Given the description of an element on the screen output the (x, y) to click on. 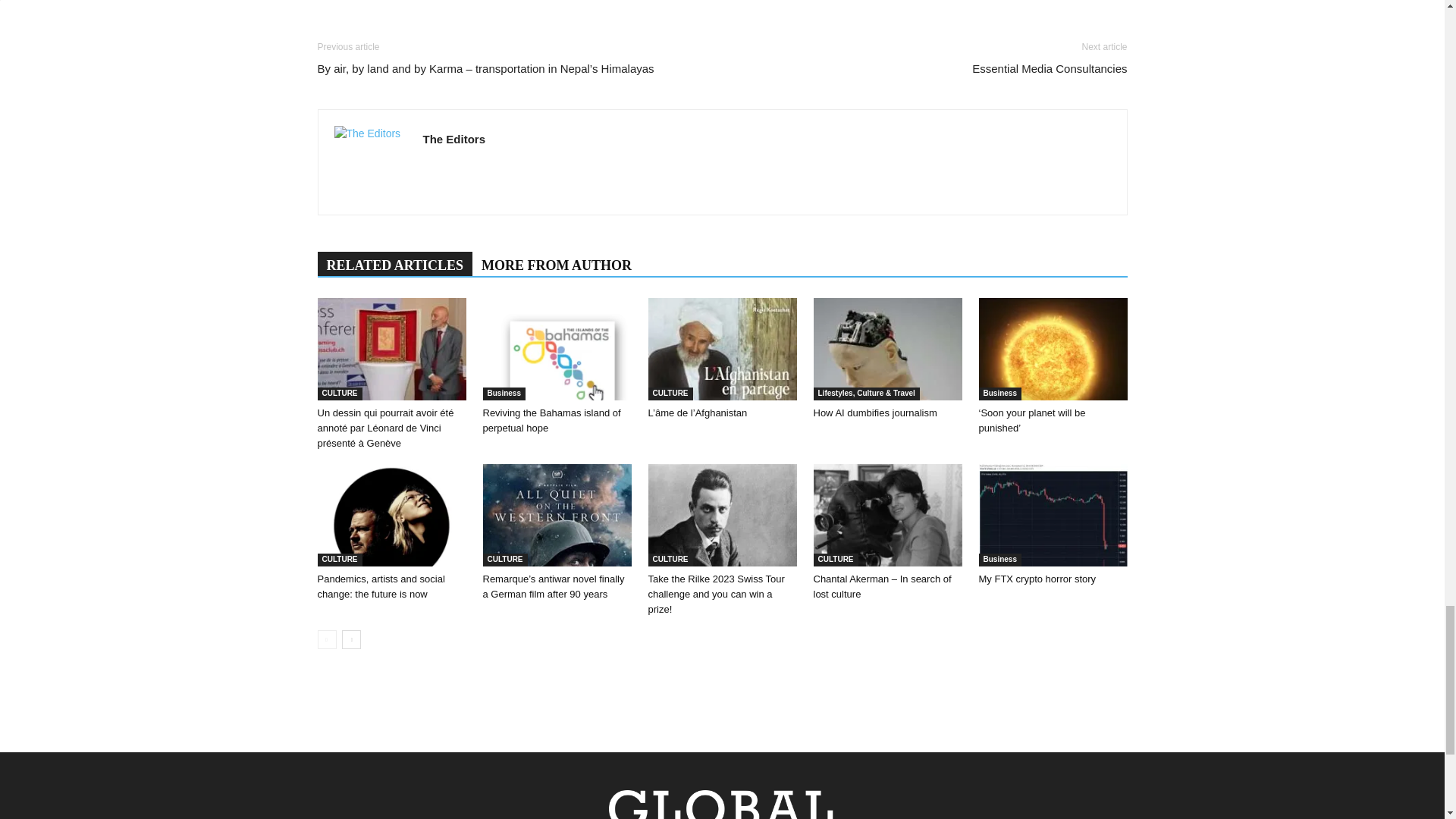
Reviving the Bahamas island of perpetual hope (555, 349)
How AI dumbifies journalism (874, 412)
How AI dumbifies journalism (886, 349)
bottomFacebookLike (430, 26)
Reviving the Bahamas island of perpetual hope (550, 420)
